Given the description of an element on the screen output the (x, y) to click on. 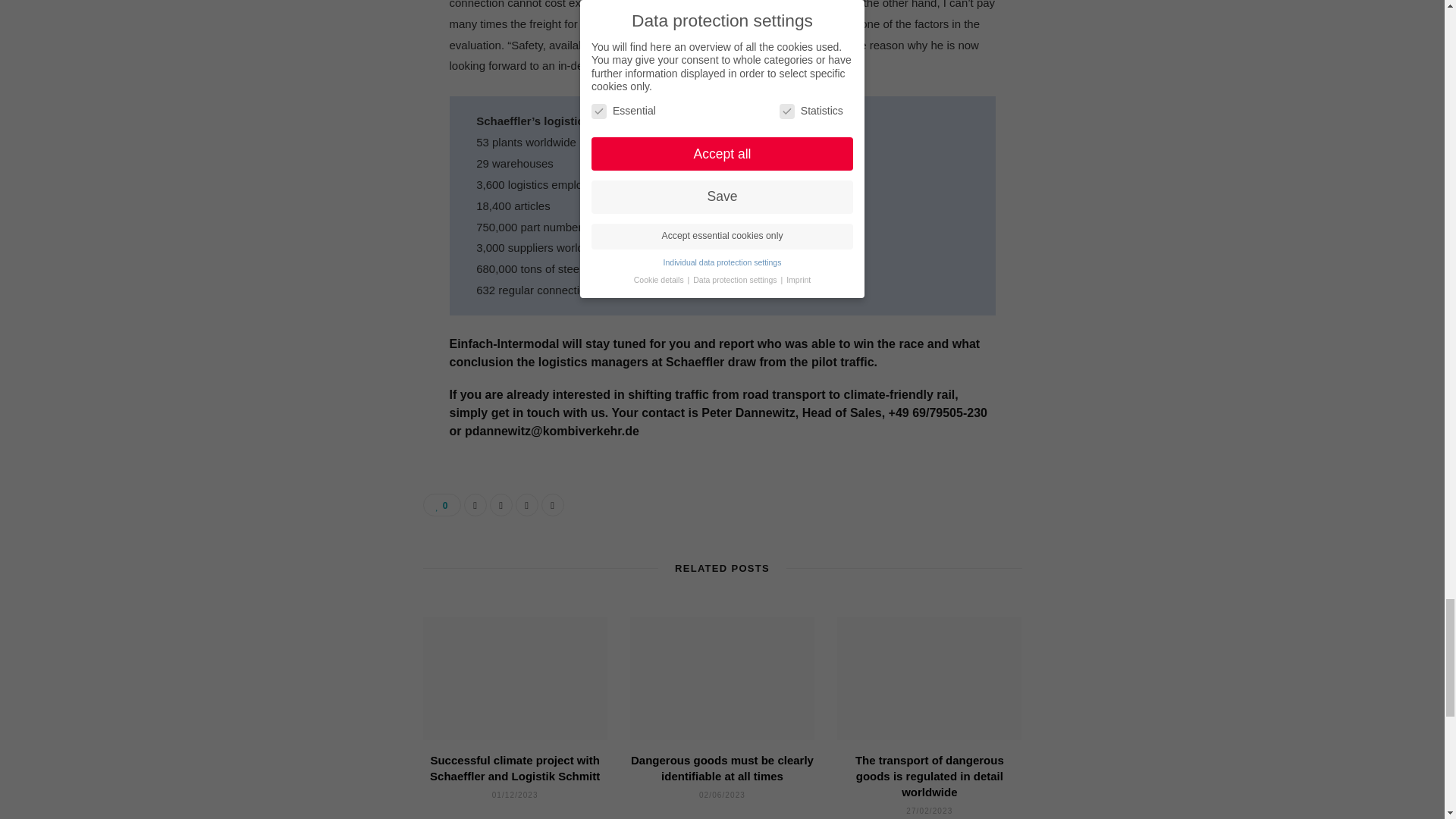
Dangerous goods must be clearly identifiable at all times (721, 767)
Dangerous goods must be clearly identifiable at all times (721, 678)
0 (442, 504)
Email (526, 504)
Share on Twitter (500, 504)
Share on Facebook (475, 504)
LinkedIn (552, 504)
